Given the description of an element on the screen output the (x, y) to click on. 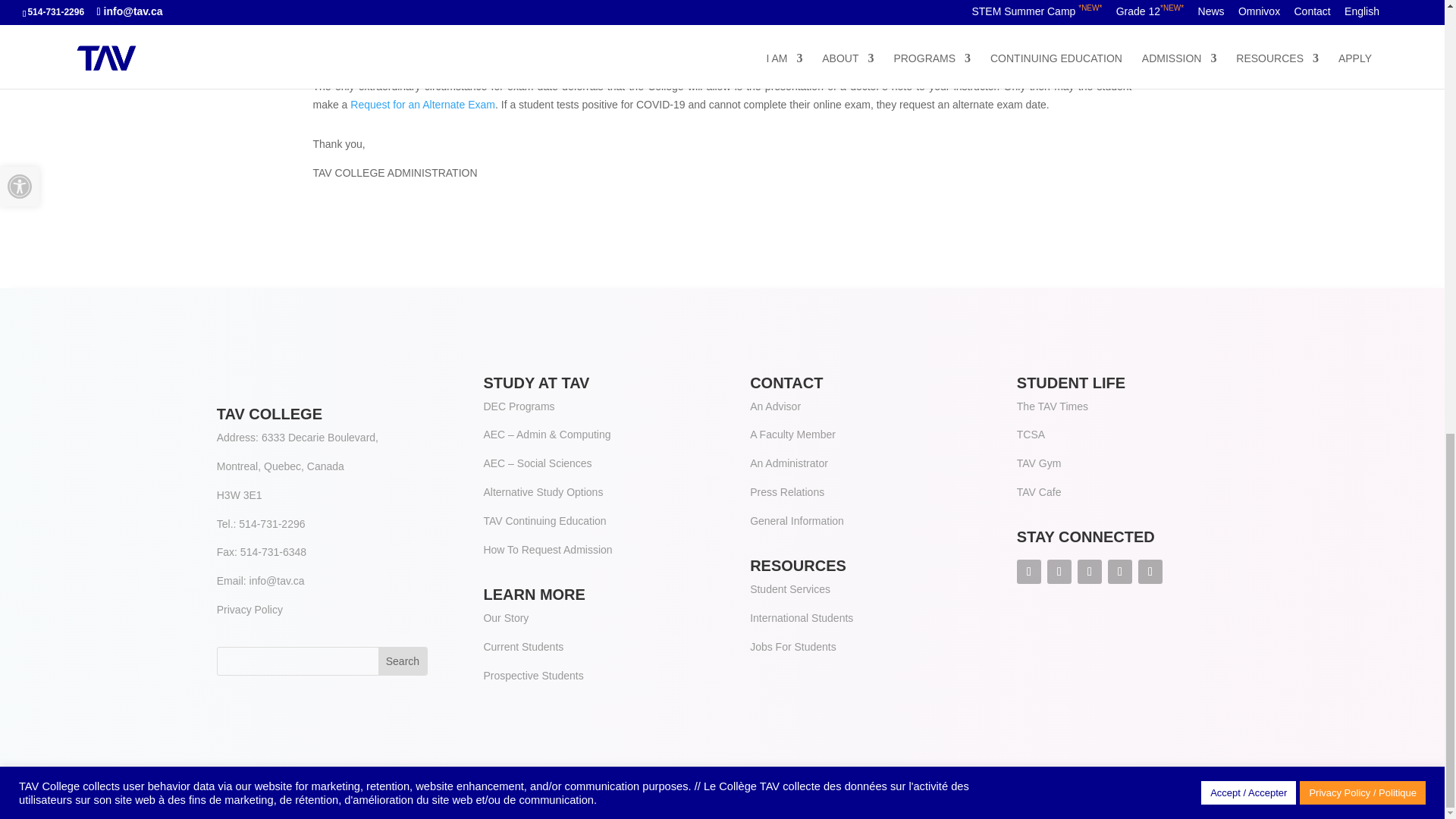
Follow on Instagram (1120, 571)
Follow on LinkedIn (1089, 571)
Follow on Facebook (1028, 571)
Search (402, 660)
Follow on X (1058, 571)
Follow on Youtube (1149, 571)
Search (402, 660)
